Given the description of an element on the screen output the (x, y) to click on. 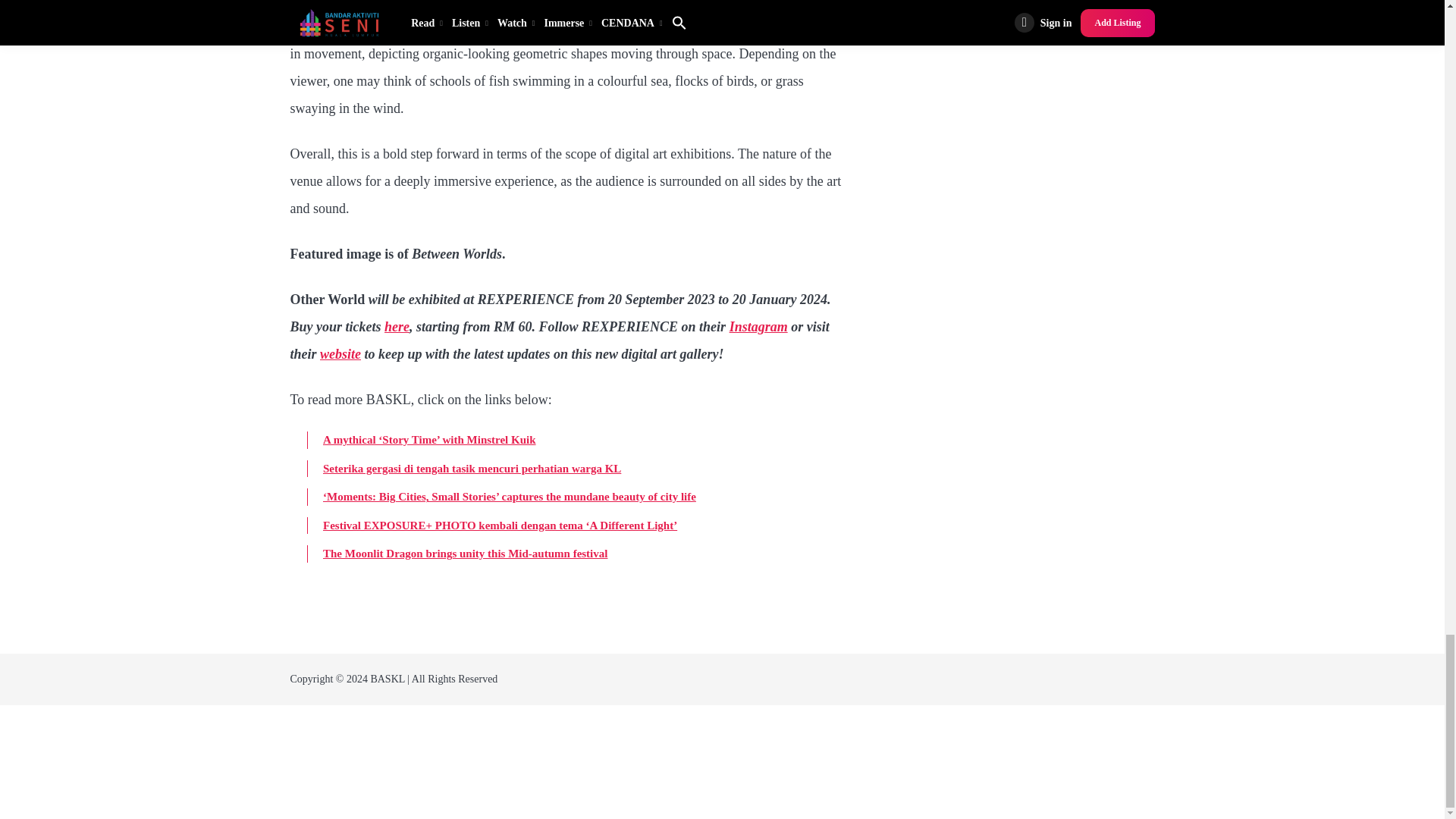
here (396, 326)
Instagram (758, 326)
